Given the description of an element on the screen output the (x, y) to click on. 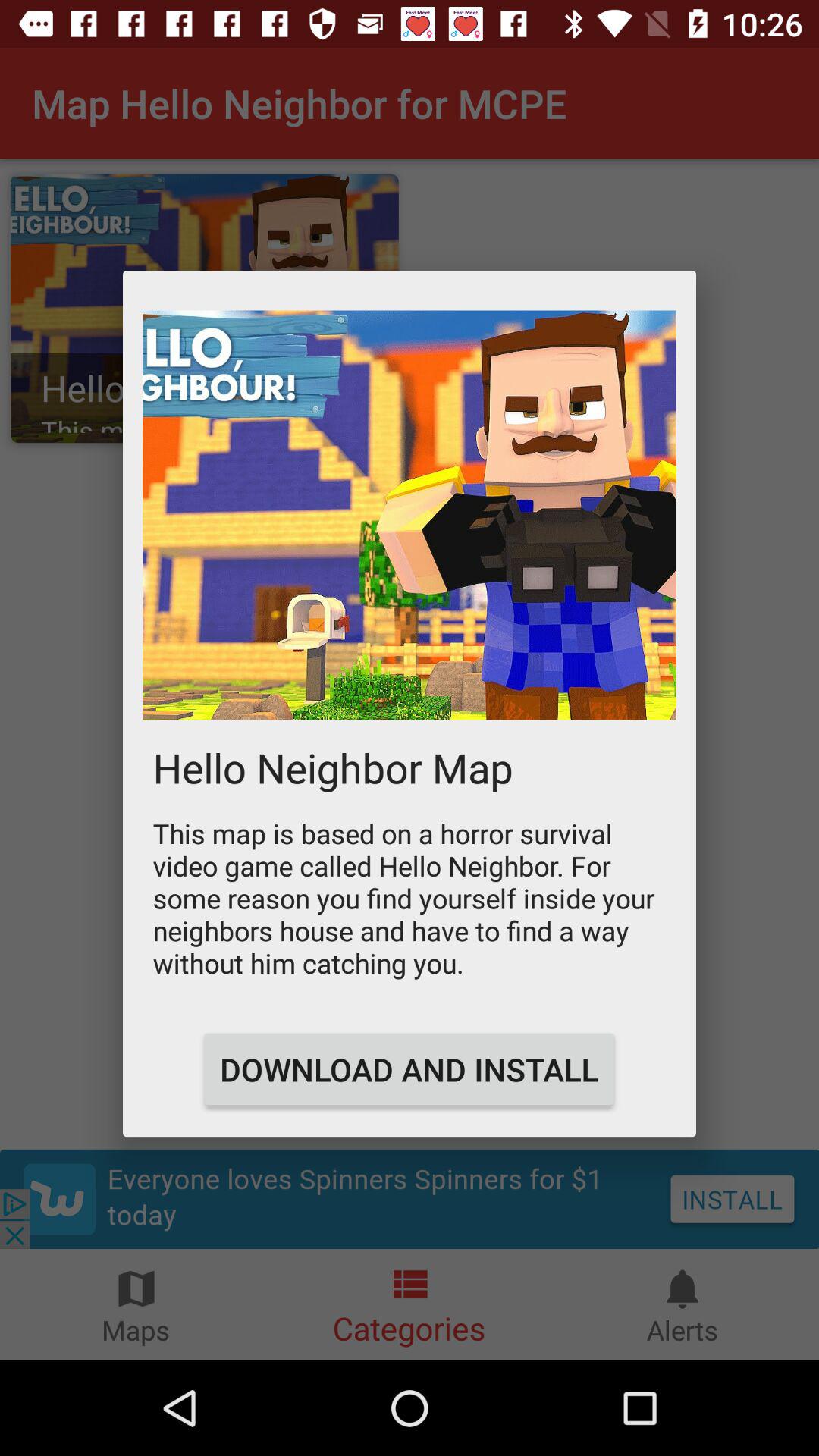
click download and install icon (409, 1069)
